Given the description of an element on the screen output the (x, y) to click on. 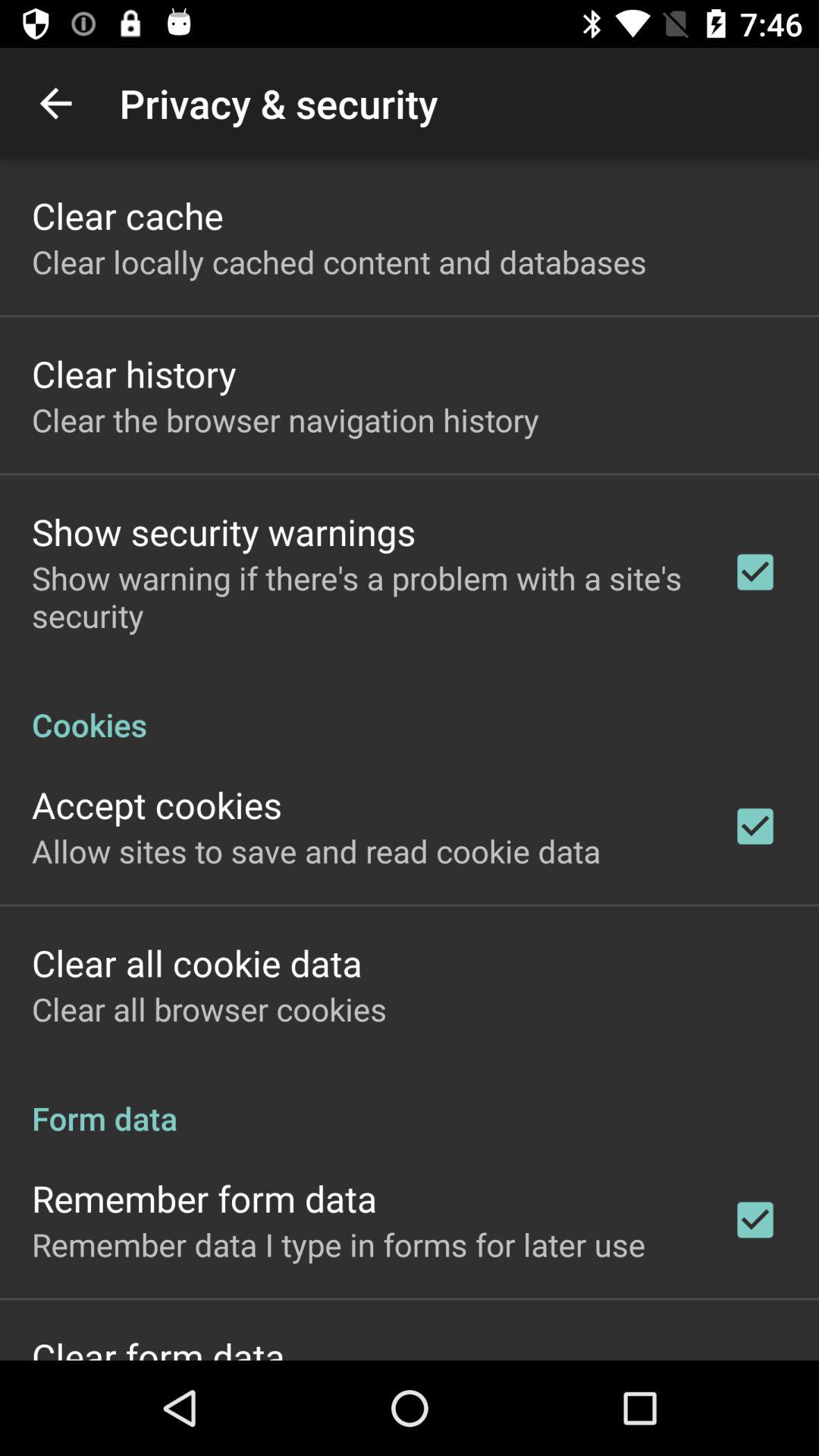
turn on the app below the show security warnings icon (361, 596)
